Given the description of an element on the screen output the (x, y) to click on. 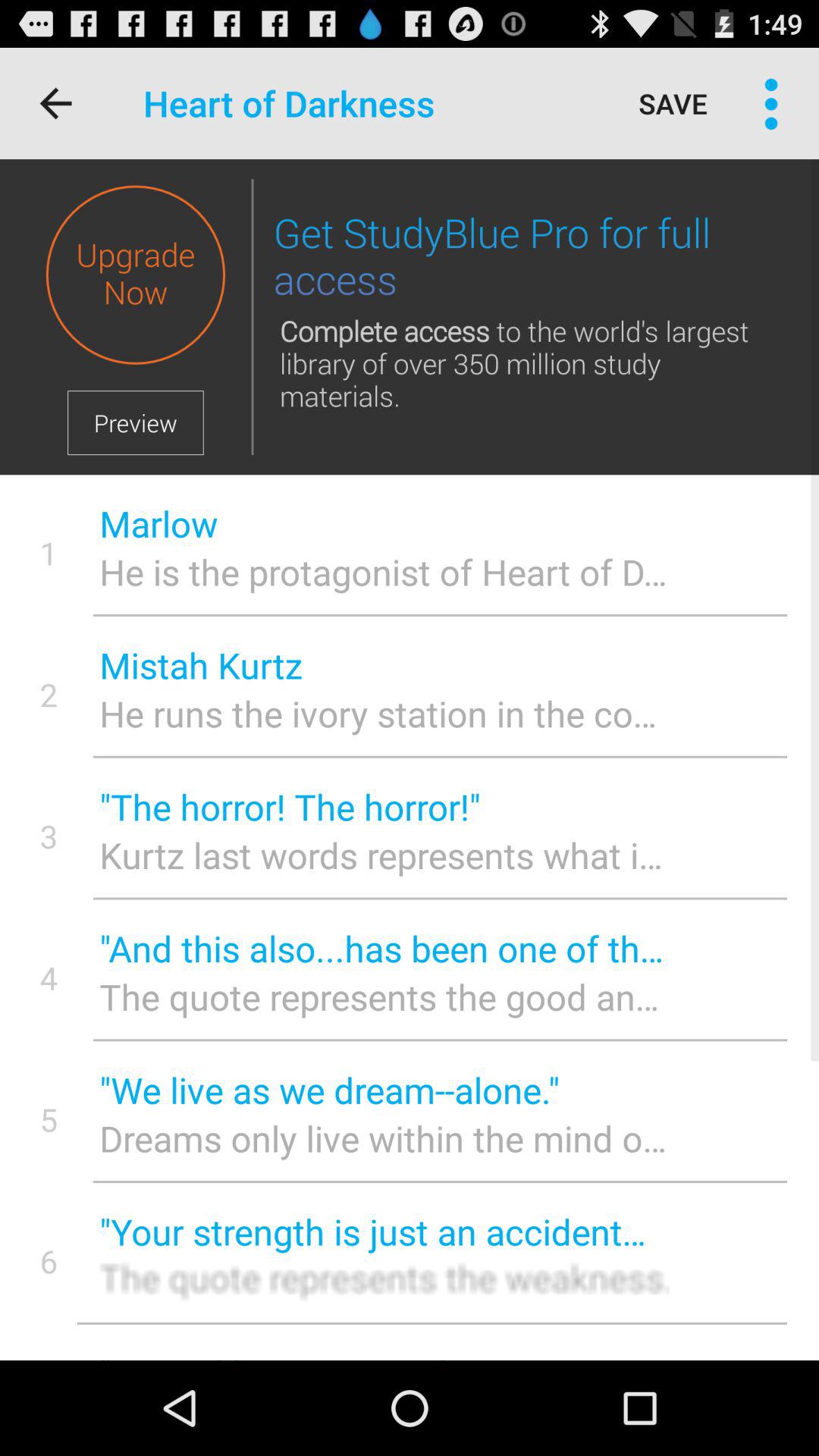
tap icon above marlow icon (252, 317)
